Given the description of an element on the screen output the (x, y) to click on. 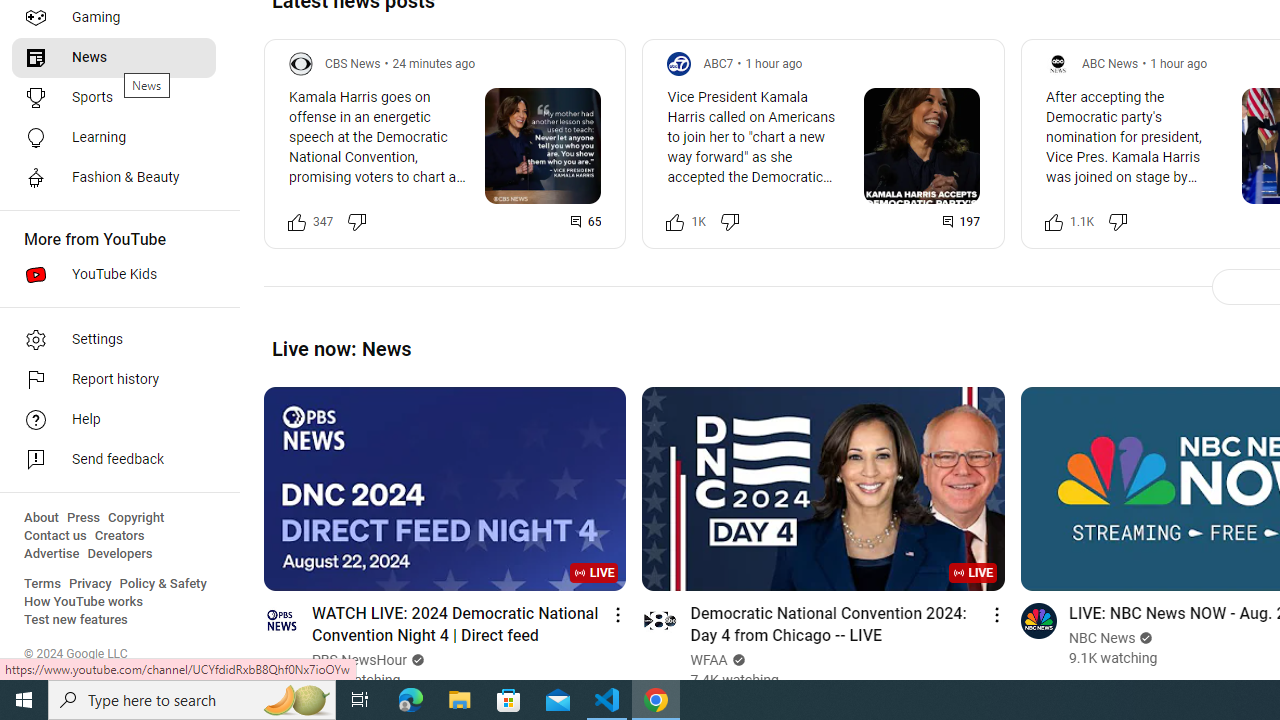
Like this post along with 1,018 other people (675, 221)
Privacy (89, 584)
Go to channel (1038, 620)
YouTube Kids (113, 274)
About (41, 518)
Fashion & Beauty (113, 177)
Contact us (55, 536)
Advertise (51, 554)
Help (113, 419)
Creators (118, 536)
Sports (113, 97)
Learning (113, 137)
CBS News (353, 63)
Terms (42, 584)
